Given the description of an element on the screen output the (x, y) to click on. 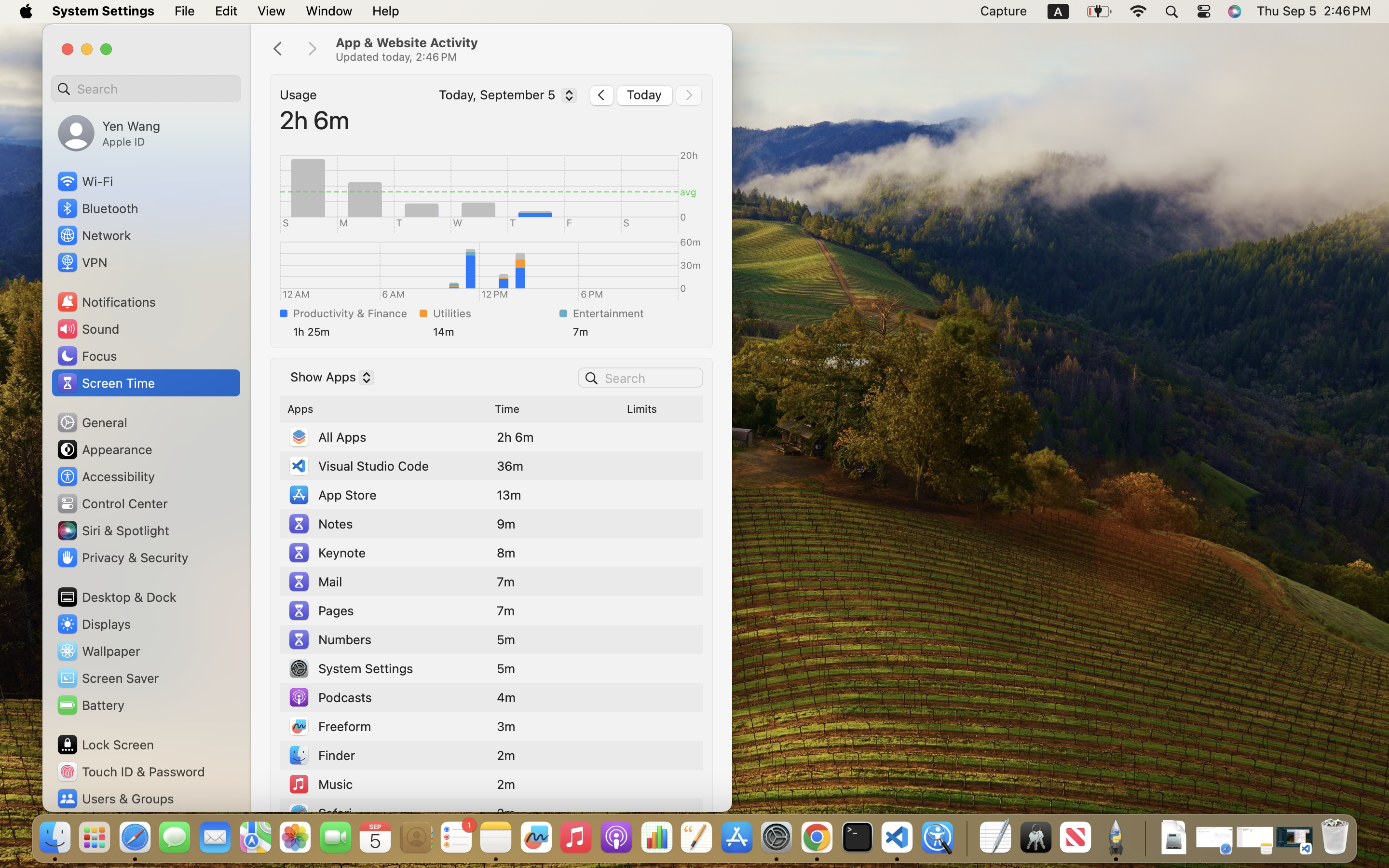
Safari Element type: AXStaticText (319, 812)
Thursday Element type: AXSlider (491, 187)
Notes Element type: AXStaticText (320, 523)
Siri & Spotlight Element type: AXStaticText (111, 530)
Touch ID & Password Element type: AXStaticText (130, 771)
